Given the description of an element on the screen output the (x, y) to click on. 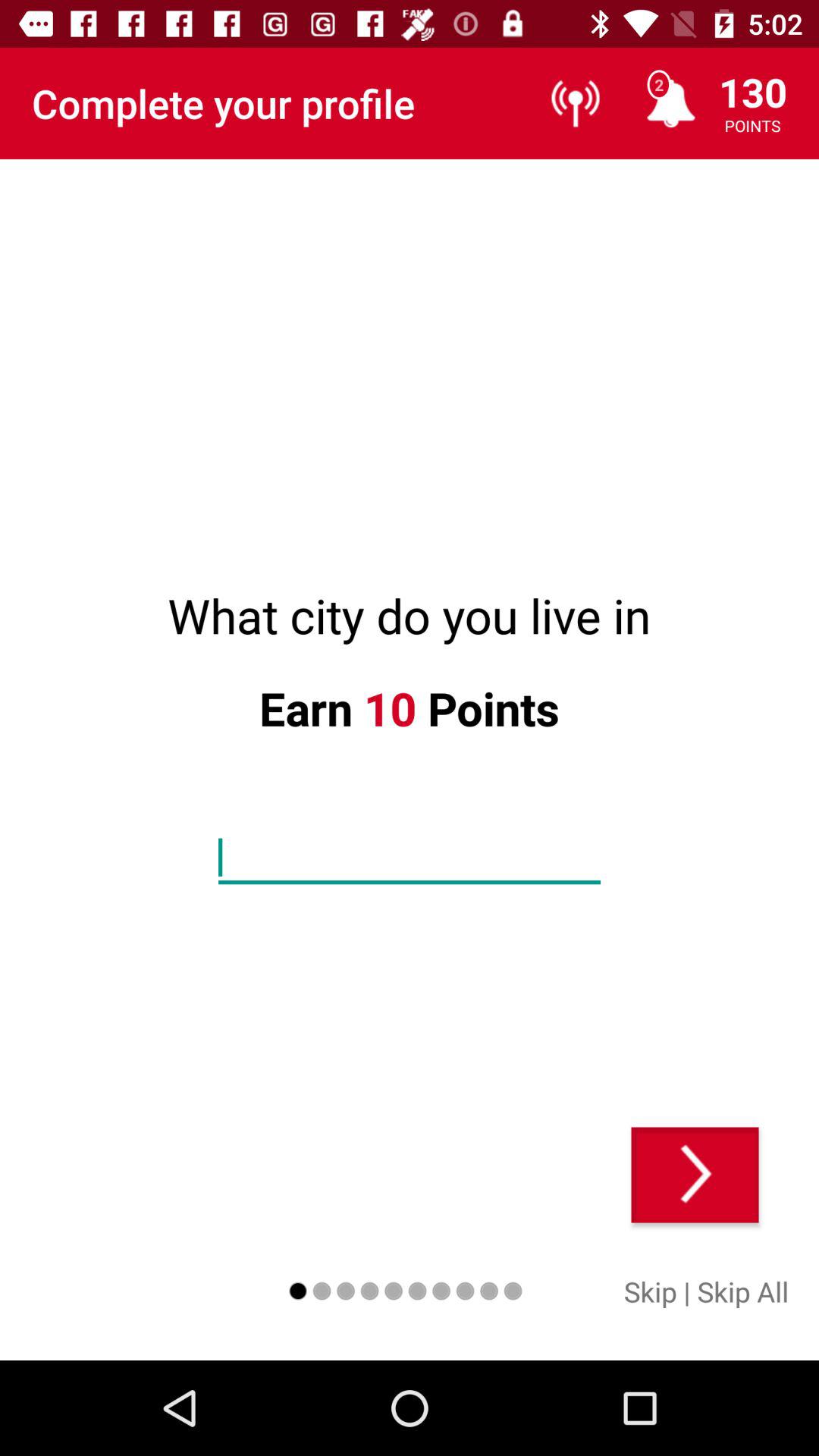
scroll until skip all item (742, 1291)
